Given the description of an element on the screen output the (x, y) to click on. 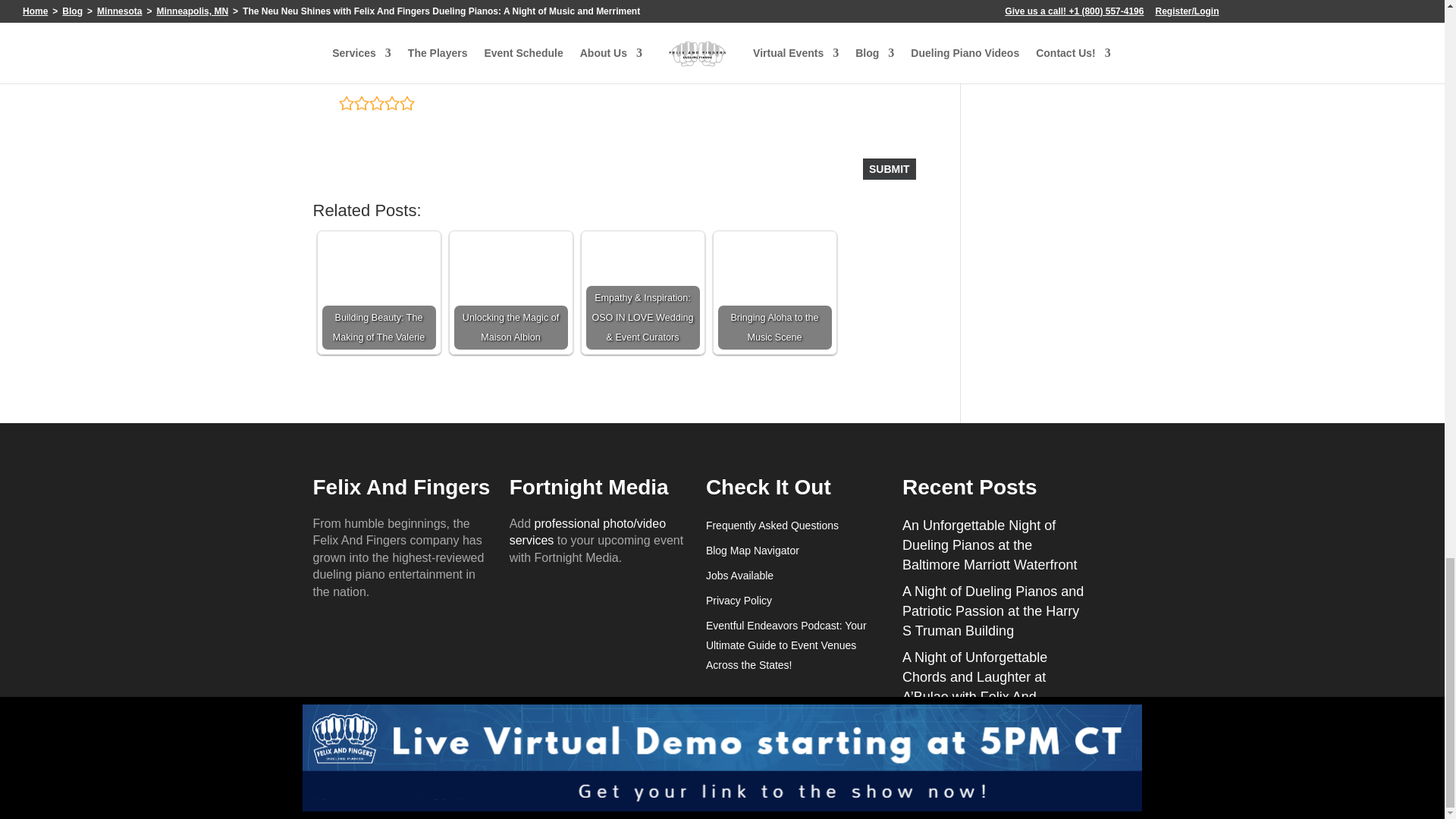
Building Beauty: The Making of The Valerie (378, 292)
Submit (889, 168)
Bringing Aloha to the Music Scene (774, 292)
Unlocking the Magic of Maison Albion (509, 292)
